Given the description of an element on the screen output the (x, y) to click on. 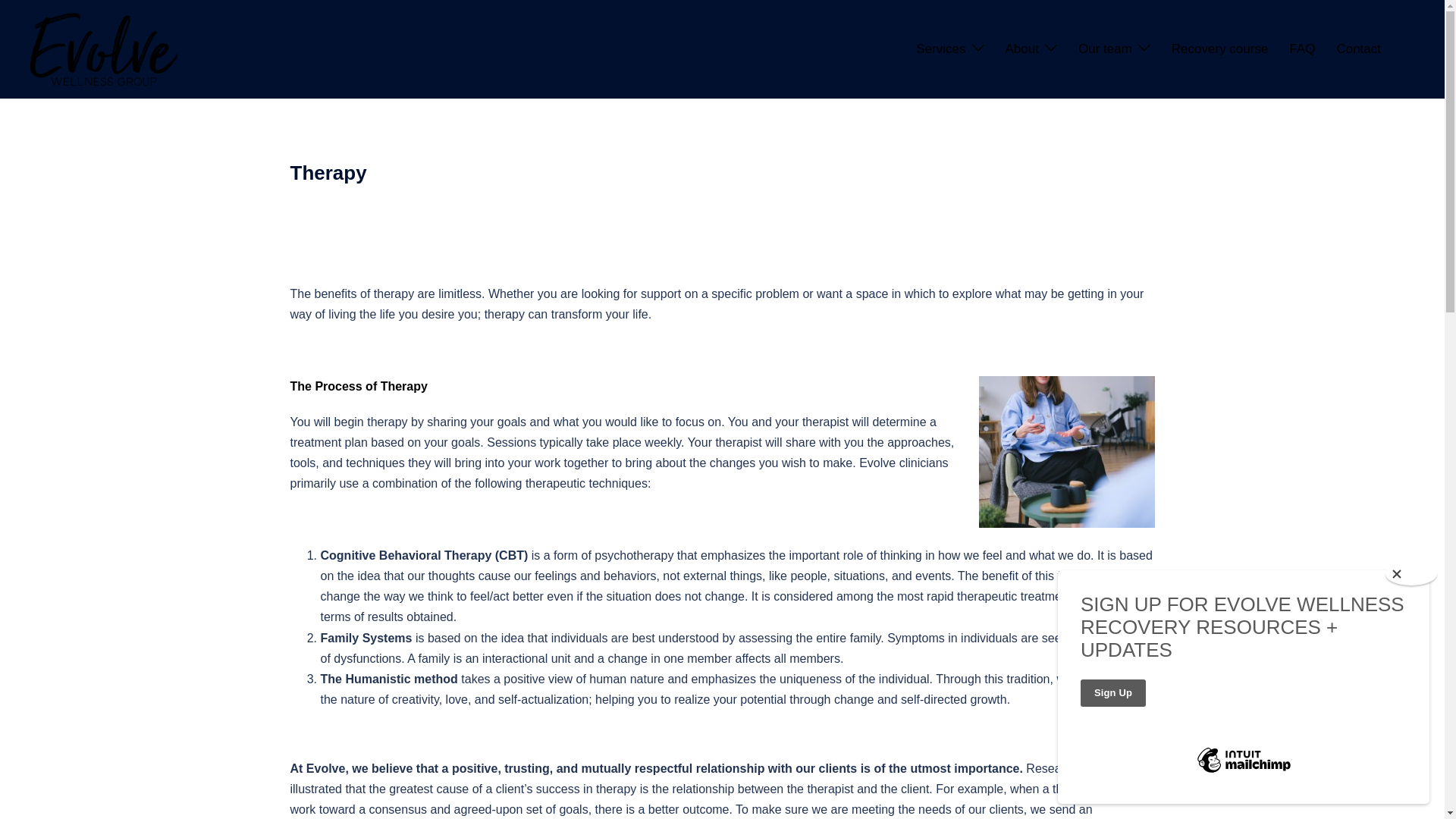
Contact (1358, 49)
About (1022, 49)
Our team (1105, 49)
Recovery course (1220, 49)
Services (940, 49)
FAQ (1301, 49)
